Given the description of an element on the screen output the (x, y) to click on. 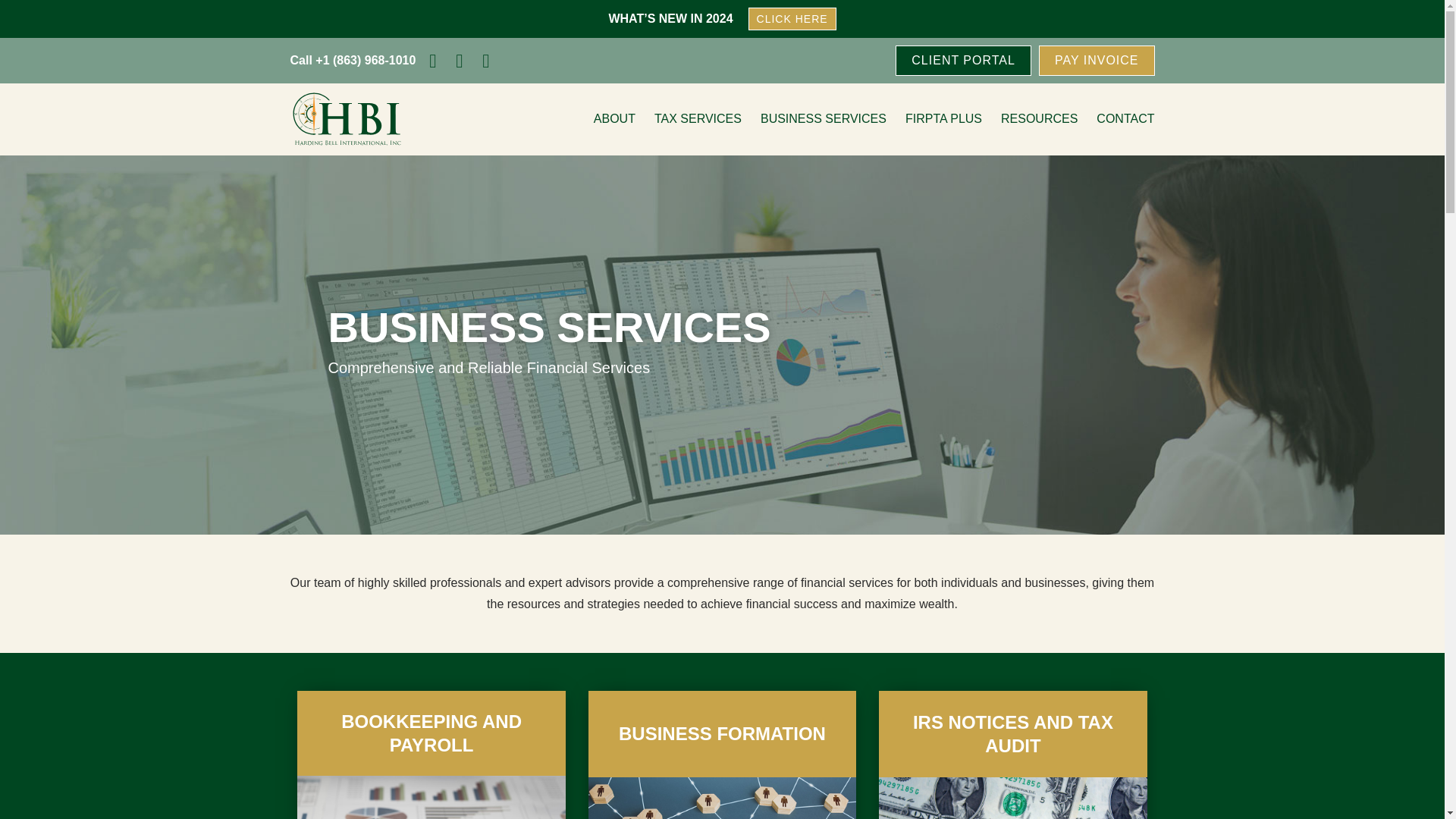
CLIENT PORTAL (962, 60)
PAY INVOICE (1096, 60)
CLICK HERE (791, 18)
TAX SERVICES (697, 118)
CONTACT (1125, 118)
FIRPTA PLUS (943, 118)
RESOURCES (1039, 118)
BUSINESS SERVICES (823, 118)
ABOUT (614, 118)
